Given the description of an element on the screen output the (x, y) to click on. 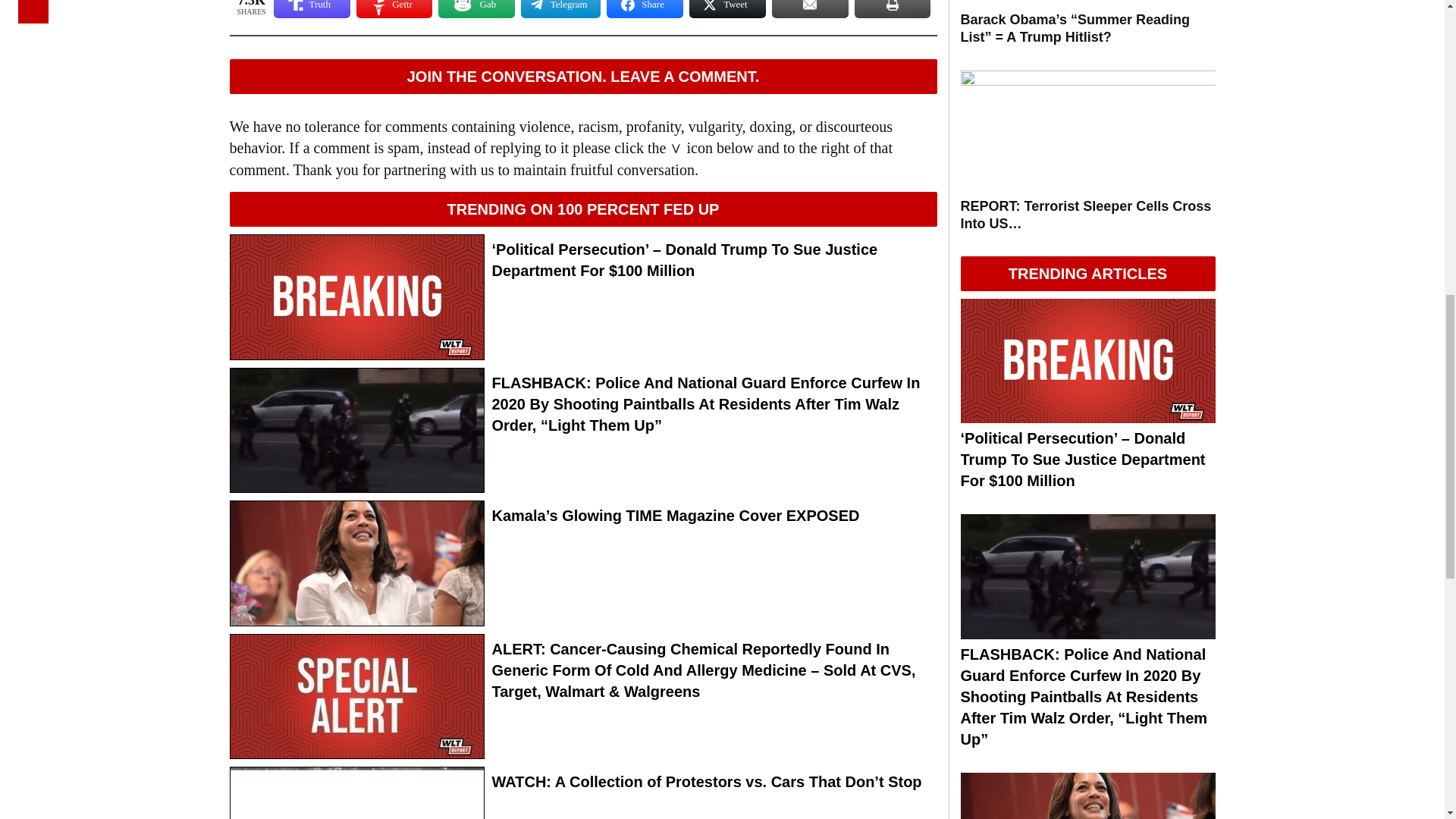
Share on Gab (476, 9)
Share on Share (644, 9)
Share on Gettr (394, 9)
Share on Telegram (560, 9)
Truth (311, 9)
Share on Tweet (726, 9)
Share on Truth (311, 9)
